Given the description of an element on the screen output the (x, y) to click on. 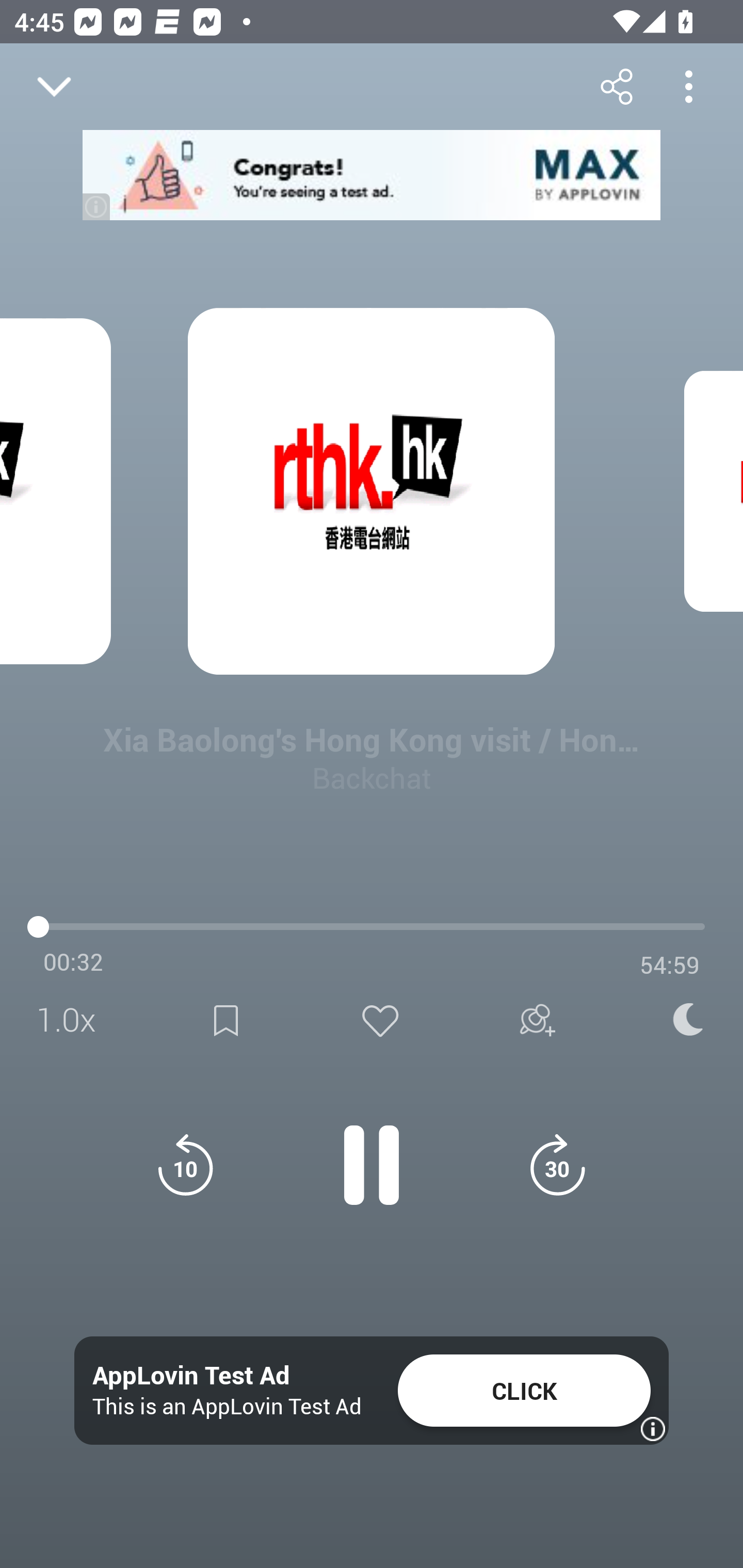
Close fullscreen player (54, 86)
Share (616, 86)
More options (688, 86)
app-monetization (371, 175)
(i) (96, 206)
Backchat (371, 776)
Open series Backchat (93, 994)
54:59 (669, 964)
1.0x Speed (72, 1020)
Like (380, 1020)
Pause button (371, 1153)
Jump back (185, 1164)
Jump forward (557, 1164)
CLICK (523, 1390)
AppLovin Test Ad (191, 1375)
This is an AppLovin Test Ad (226, 1406)
